Given the description of an element on the screen output the (x, y) to click on. 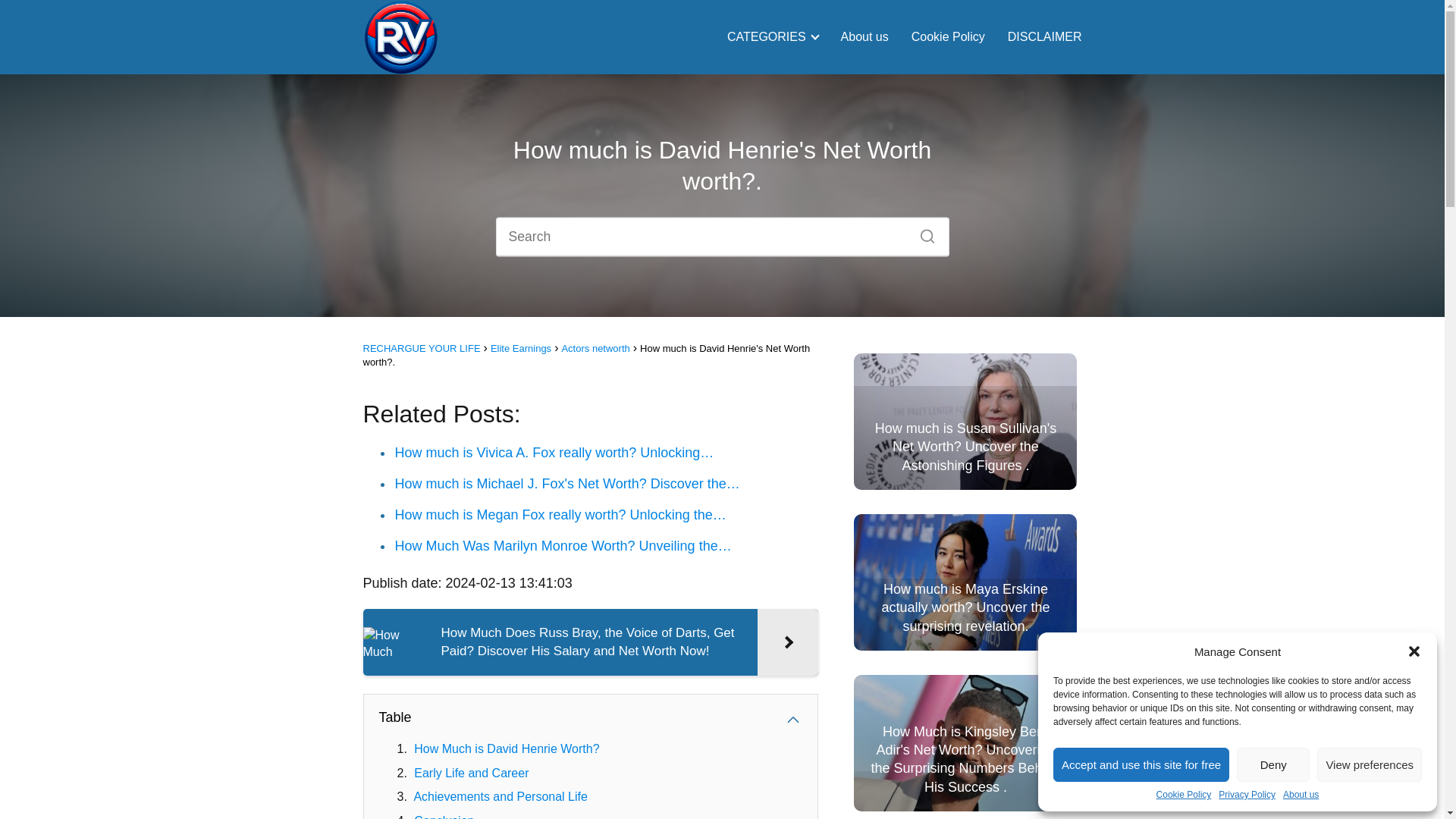
Early Life and Career (470, 772)
View preferences (1369, 764)
About us (1300, 794)
Deny (1272, 764)
Conclusion (443, 816)
Accept and use this site for free (1140, 764)
CATEGORIES (769, 36)
How Much is David Henrie Worth? (505, 748)
Privacy Policy (1246, 794)
Cookie Policy (1183, 794)
Achievements and Personal Life (499, 796)
